Given the description of an element on the screen output the (x, y) to click on. 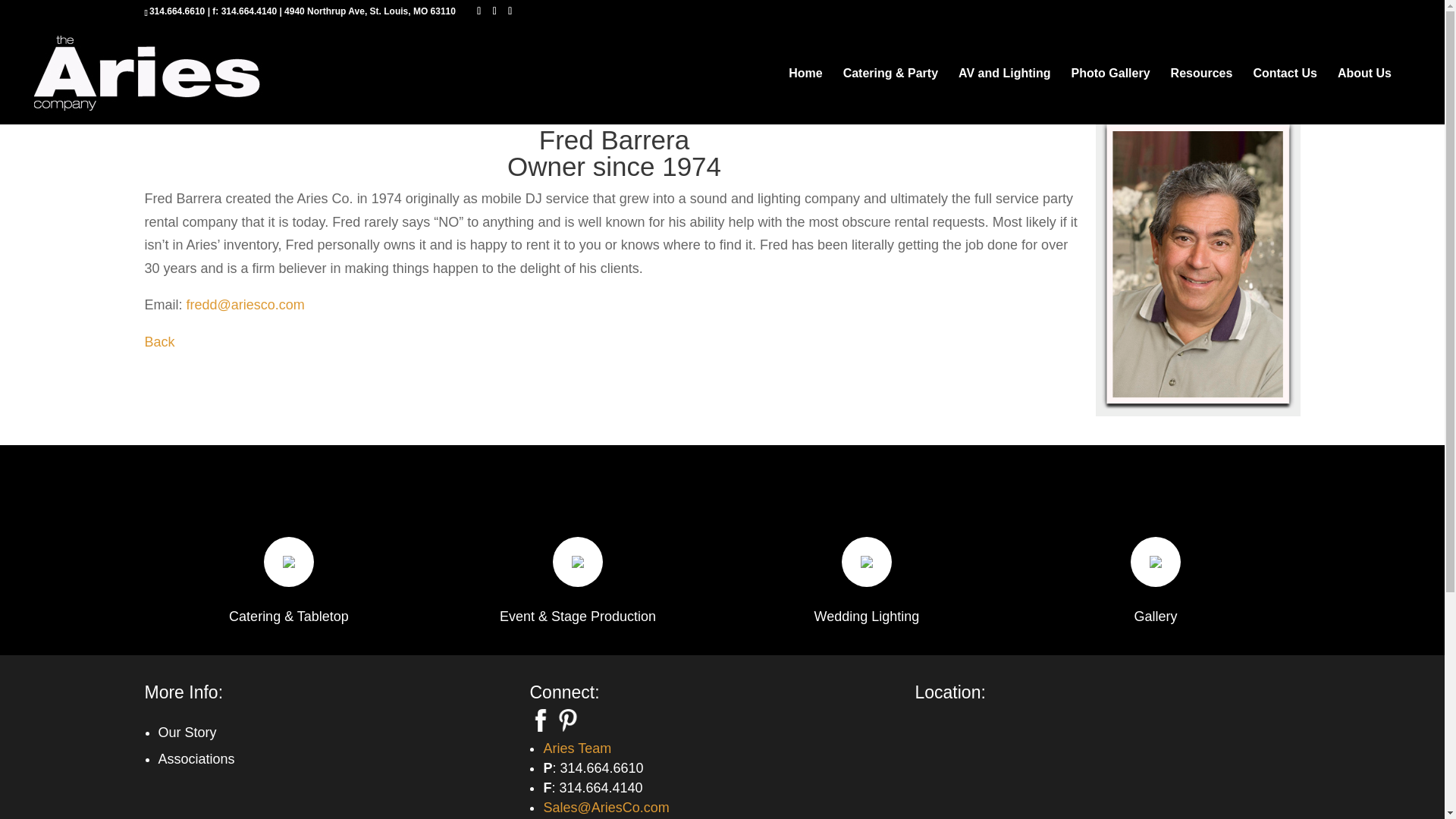
AV and Lighting (1003, 95)
Gallery (1155, 616)
Our Story (186, 732)
Resources (1201, 95)
Associations (195, 758)
Aries Team (577, 748)
Contact Us (1284, 95)
Photo Gallery (1110, 95)
Back (159, 341)
About Us (1364, 95)
Wedding Lighting (866, 616)
